Given the description of an element on the screen output the (x, y) to click on. 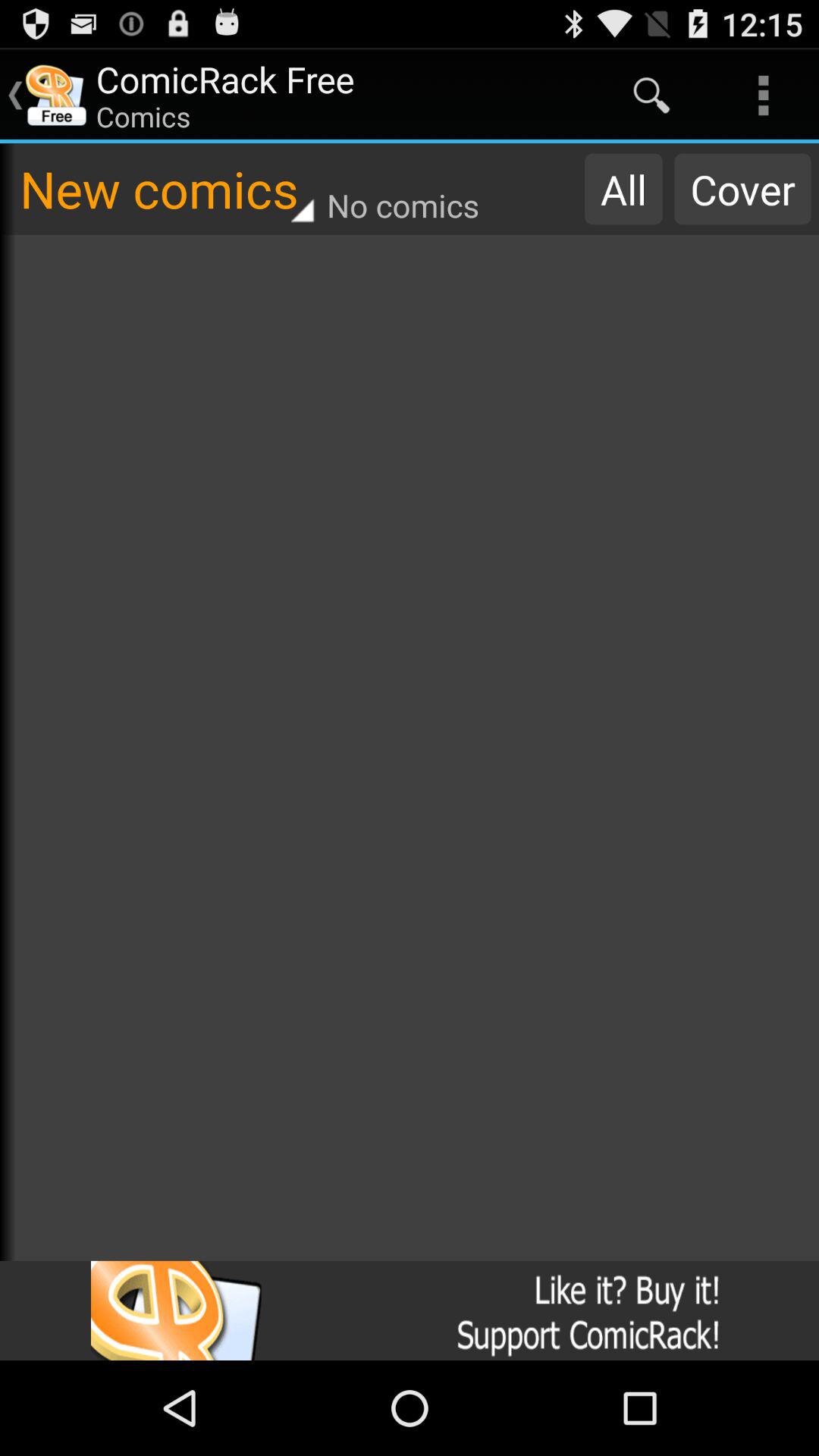
press the icon to the right of comicrack free (651, 95)
